Given the description of an element on the screen output the (x, y) to click on. 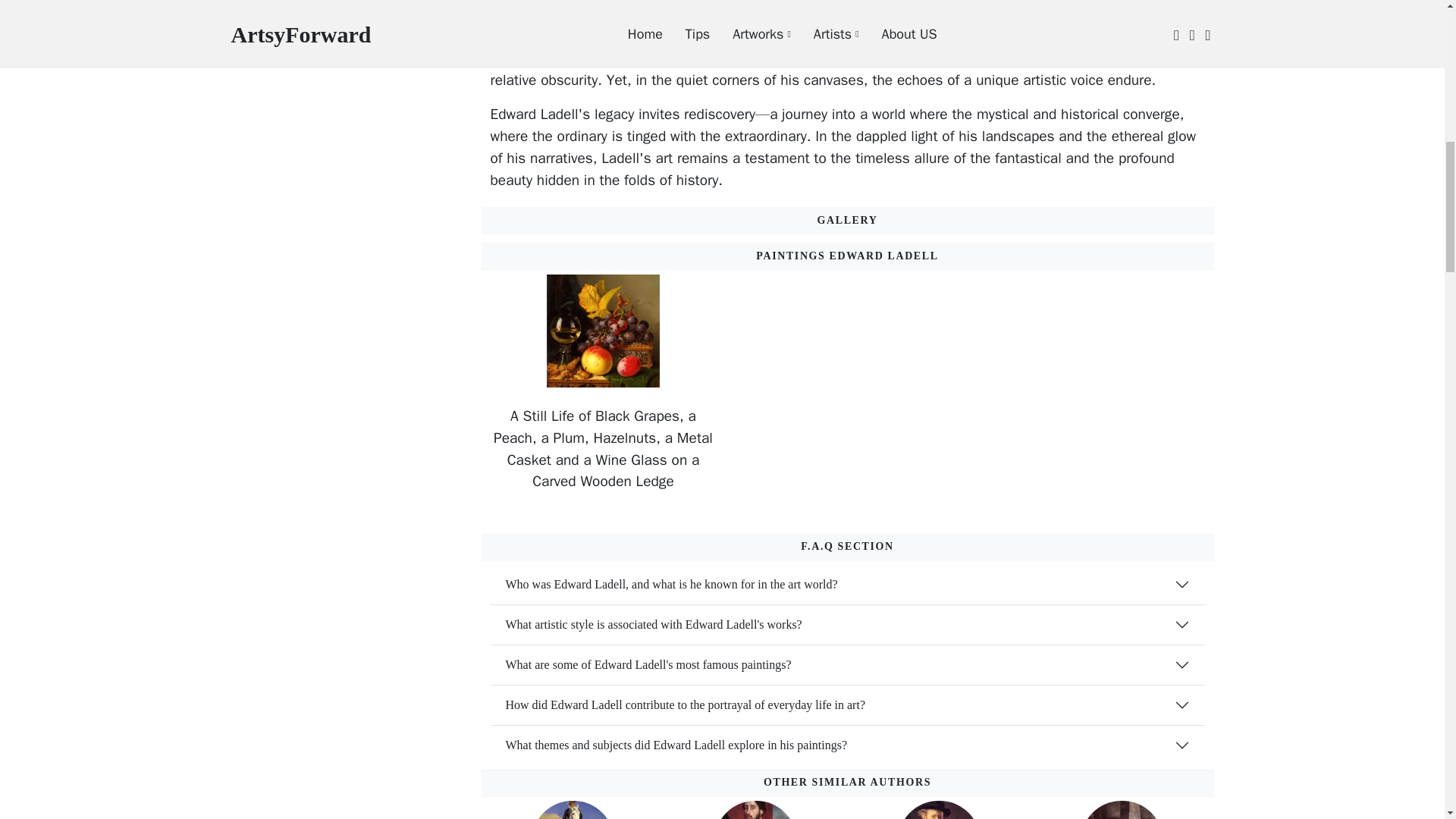
What are some of Edward Ladell's most famous paintings? (846, 664)
